Given the description of an element on the screen output the (x, y) to click on. 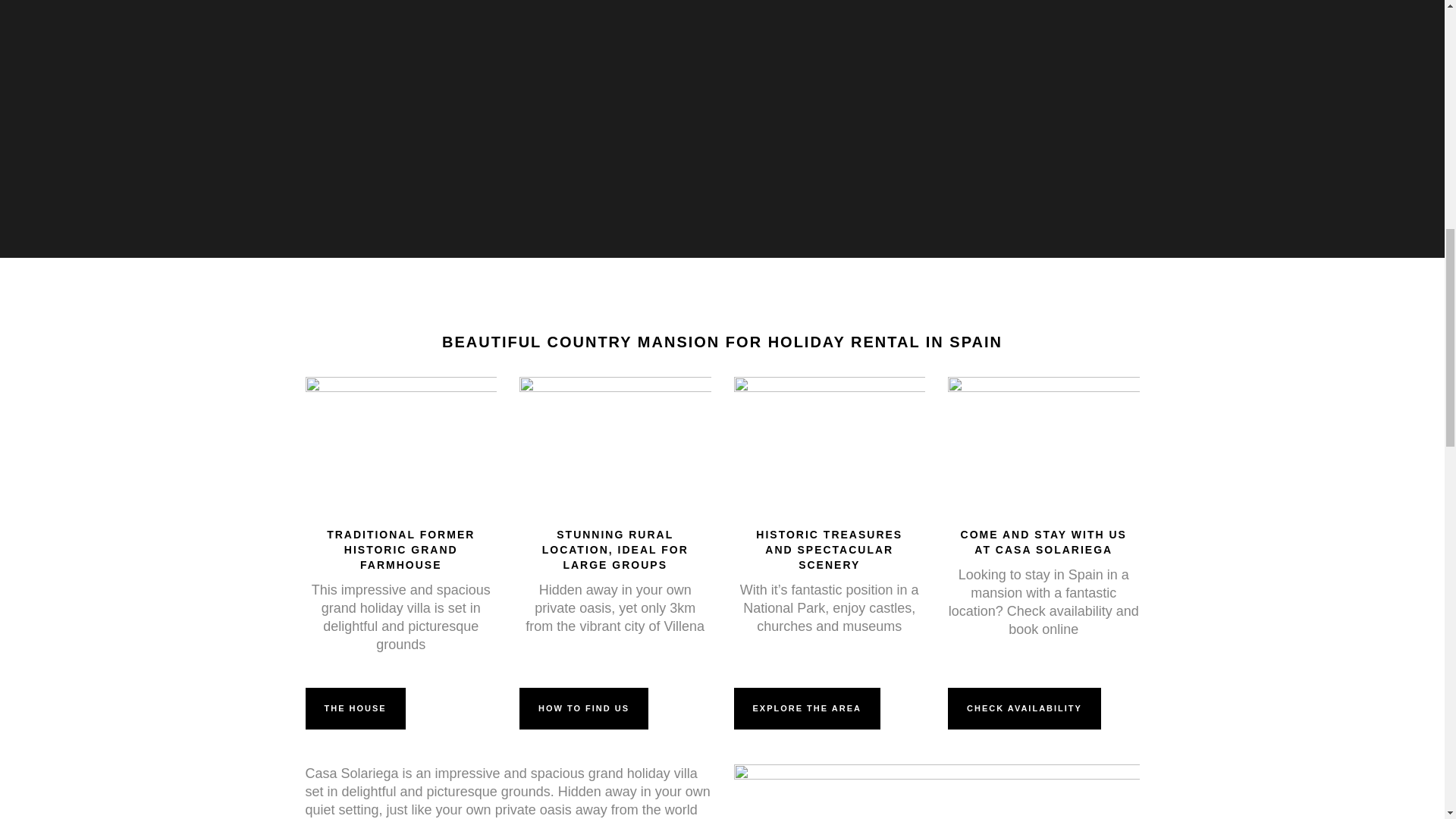
EXPLORE THE AREA (806, 708)
THE HOUSE (354, 708)
CHECK AVAILABILITY (1023, 708)
HOW TO FIND US (583, 708)
